Given the description of an element on the screen output the (x, y) to click on. 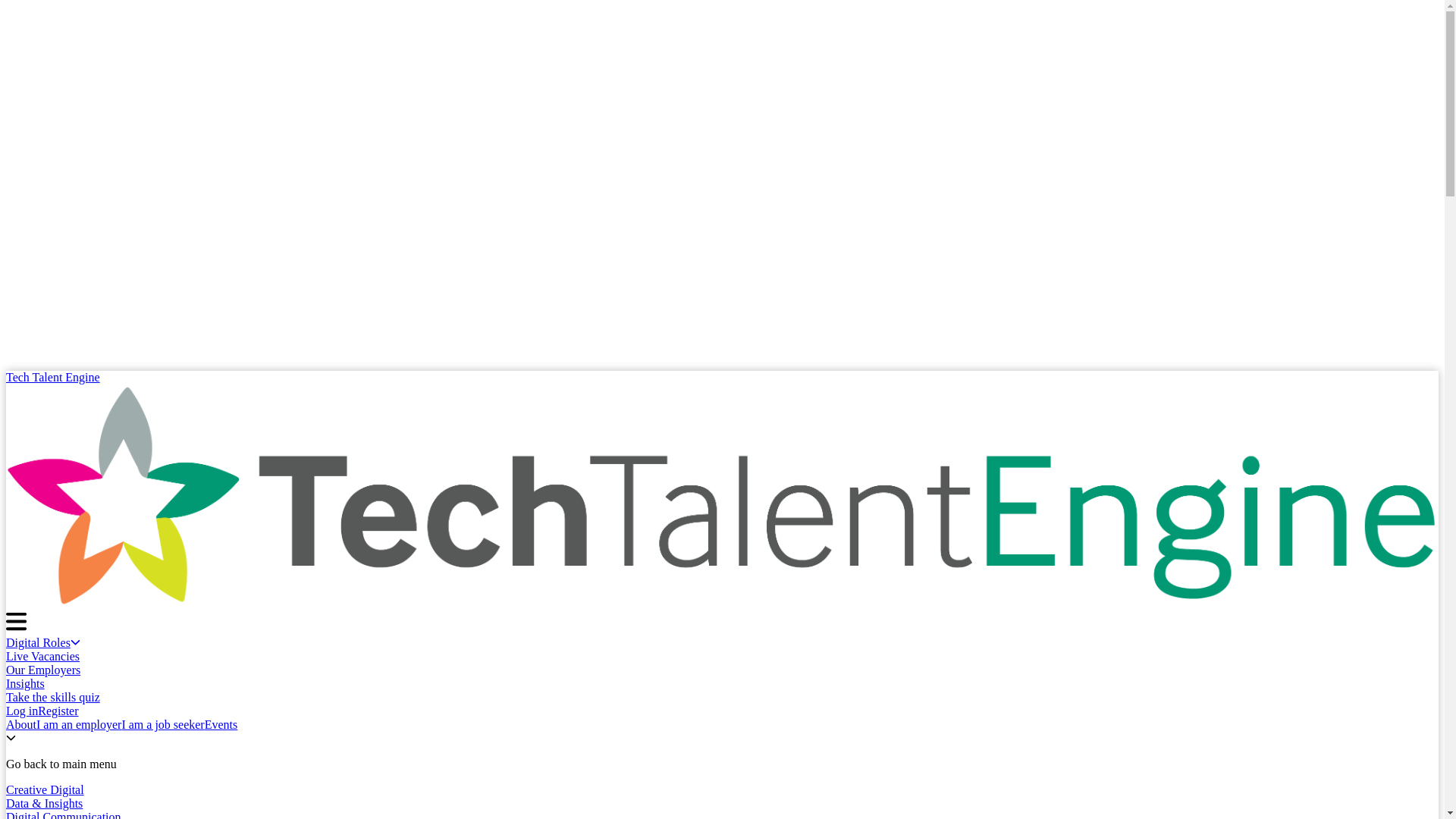
I am an employer (78, 724)
Events (221, 724)
Log in (21, 710)
I am a job seeker (161, 724)
Take the skills quiz (52, 697)
About (20, 724)
Register (57, 710)
